Given the description of an element on the screen output the (x, y) to click on. 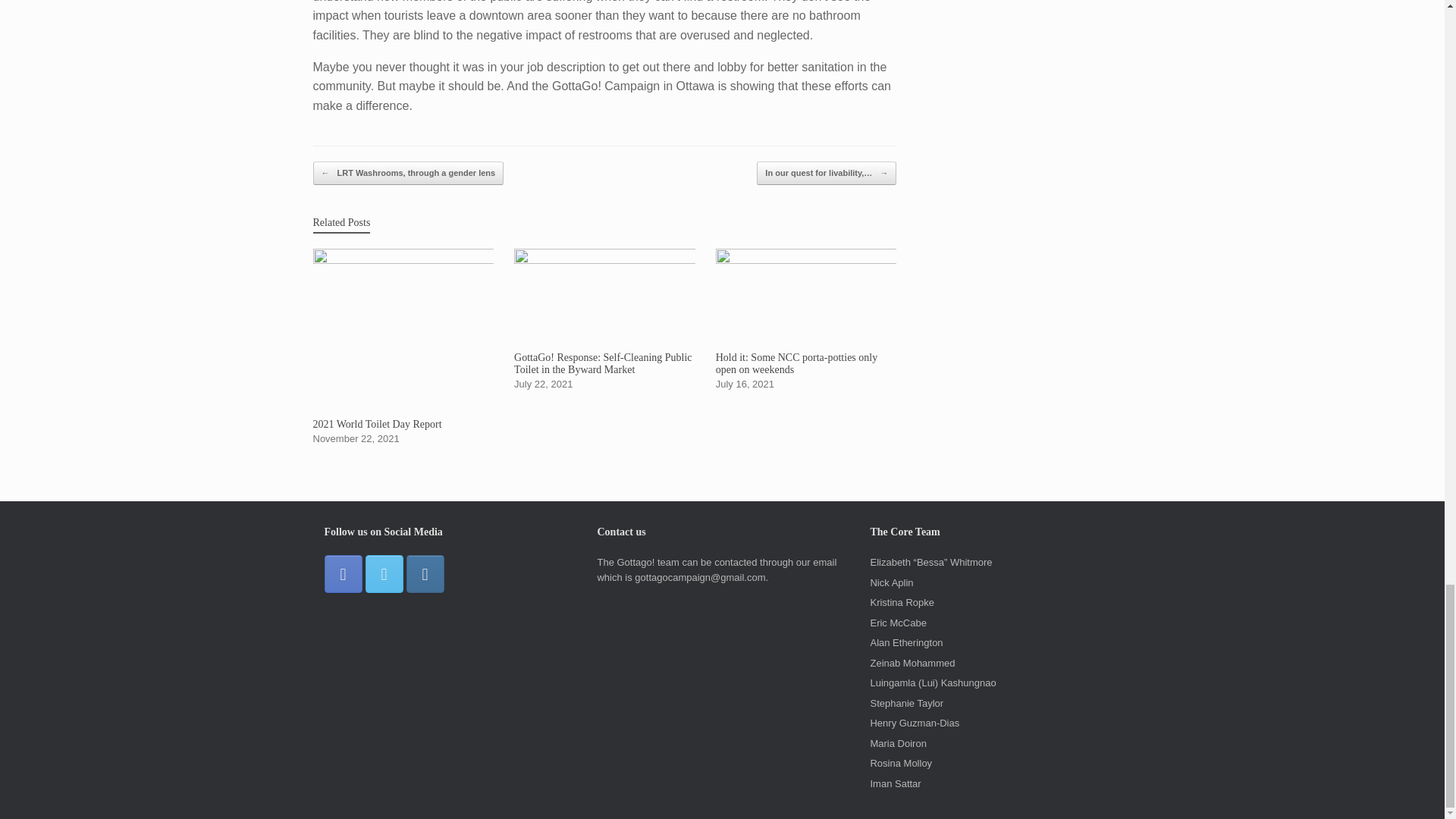
GottaGo Ottawa! Facebook (343, 573)
Hold it: Some NCC porta-potties only open on weekends (806, 318)
GottaGo Ottawa! Twitter (384, 573)
GottaGo Ottawa! Instagram (425, 573)
2021 World Toilet Day Report (403, 346)
